Given the description of an element on the screen output the (x, y) to click on. 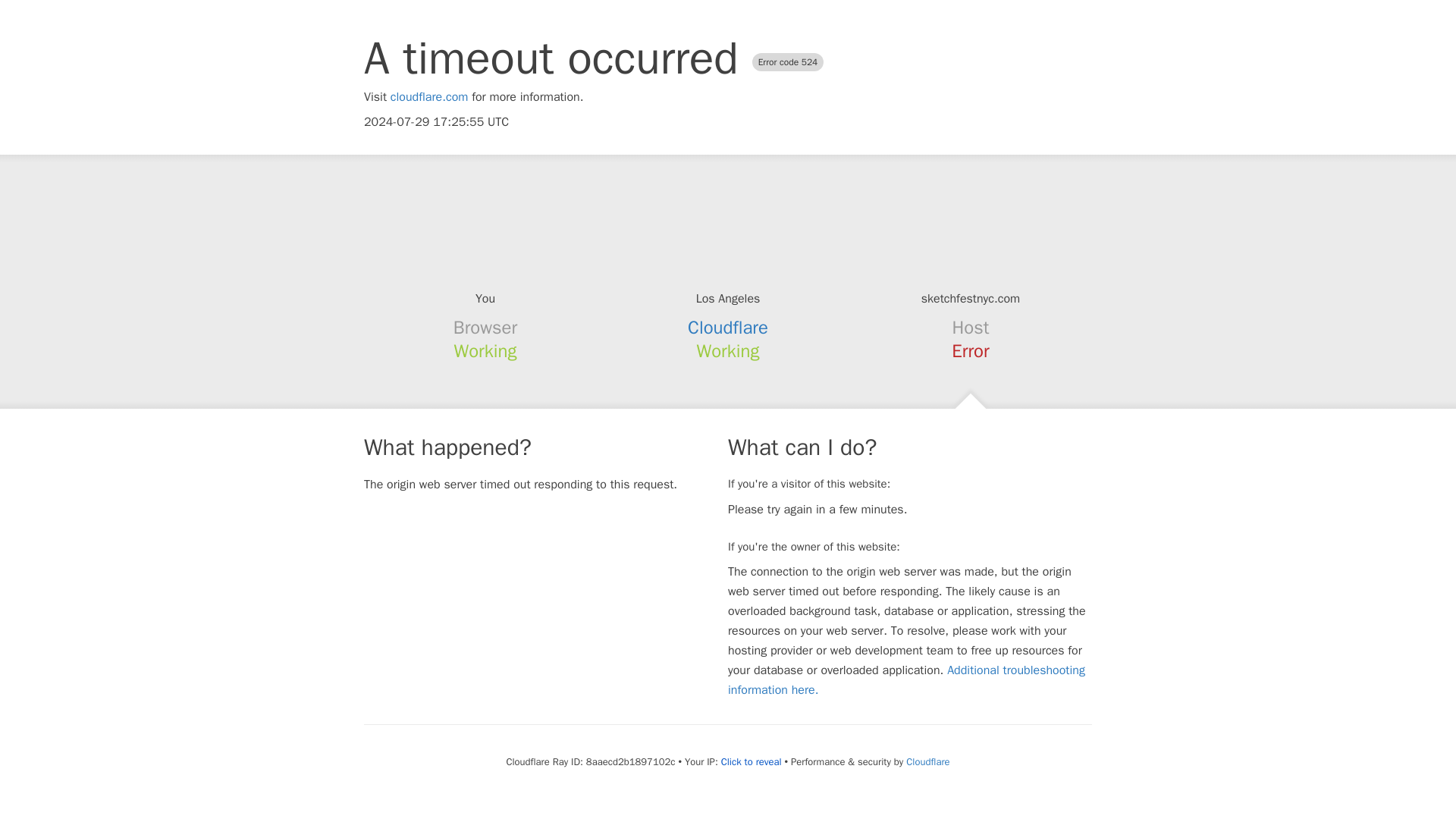
Cloudflare (727, 327)
Click to reveal (750, 762)
cloudflare.com (429, 96)
Cloudflare (927, 761)
Additional troubleshooting information here. (906, 679)
